Given the description of an element on the screen output the (x, y) to click on. 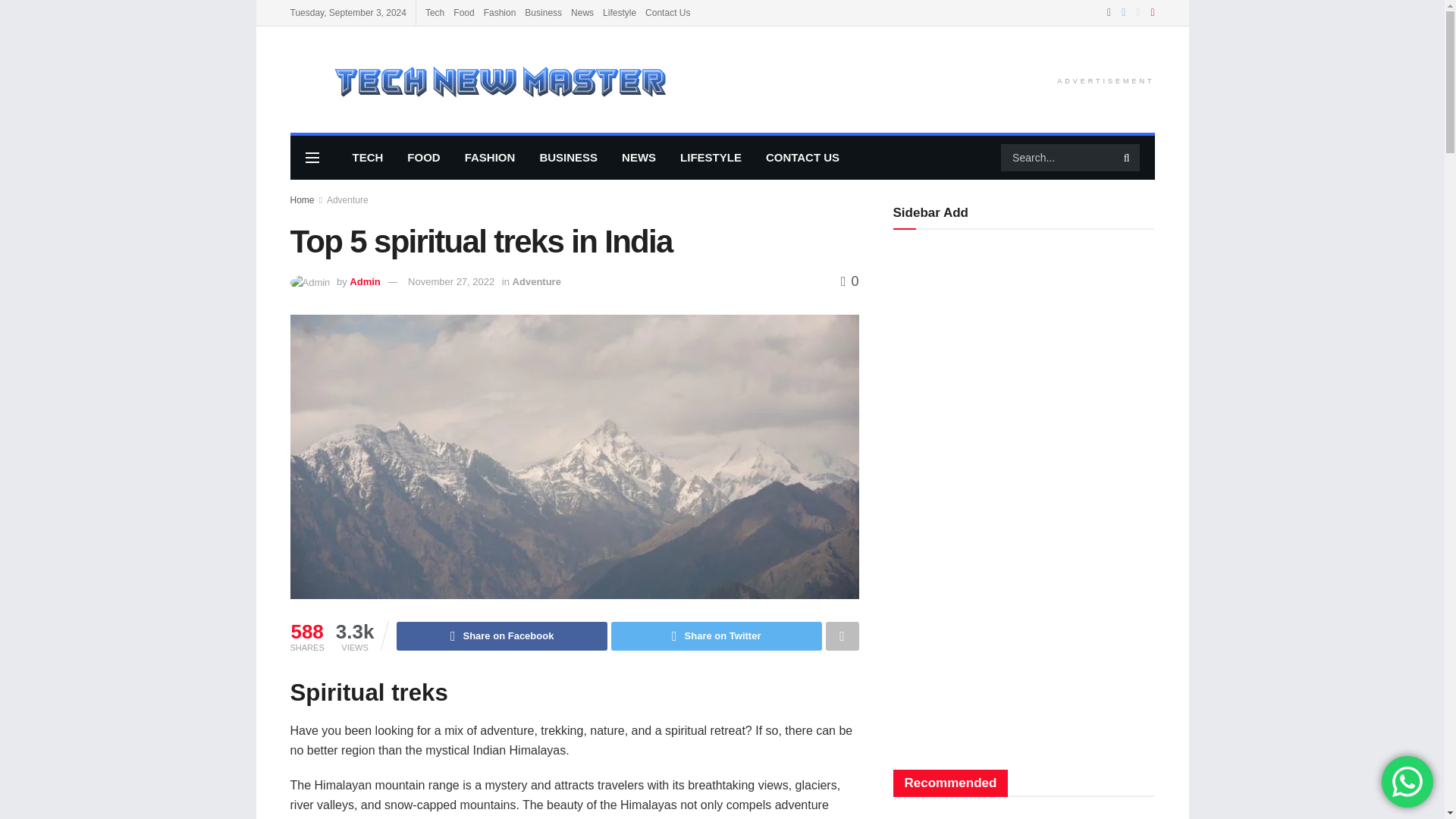
Fashion (499, 12)
BUSINESS (568, 157)
FASHION (489, 157)
CONTACT US (802, 157)
TECH (366, 157)
Lifestyle (619, 12)
Contact Us (667, 12)
NEWS (639, 157)
LIFESTYLE (711, 157)
FOOD (422, 157)
